Given the description of an element on the screen output the (x, y) to click on. 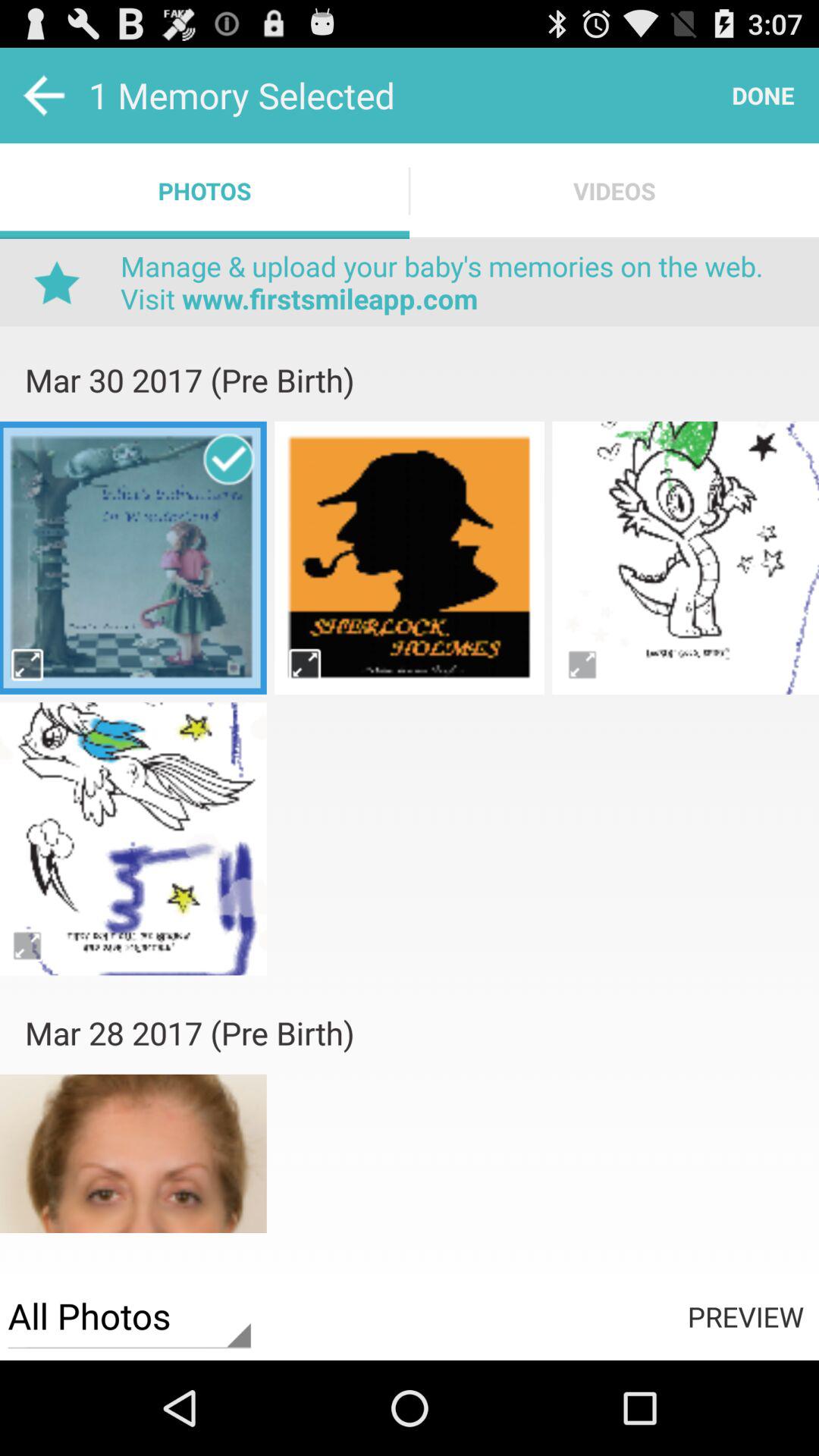
game pega (133, 838)
